Given the description of an element on the screen output the (x, y) to click on. 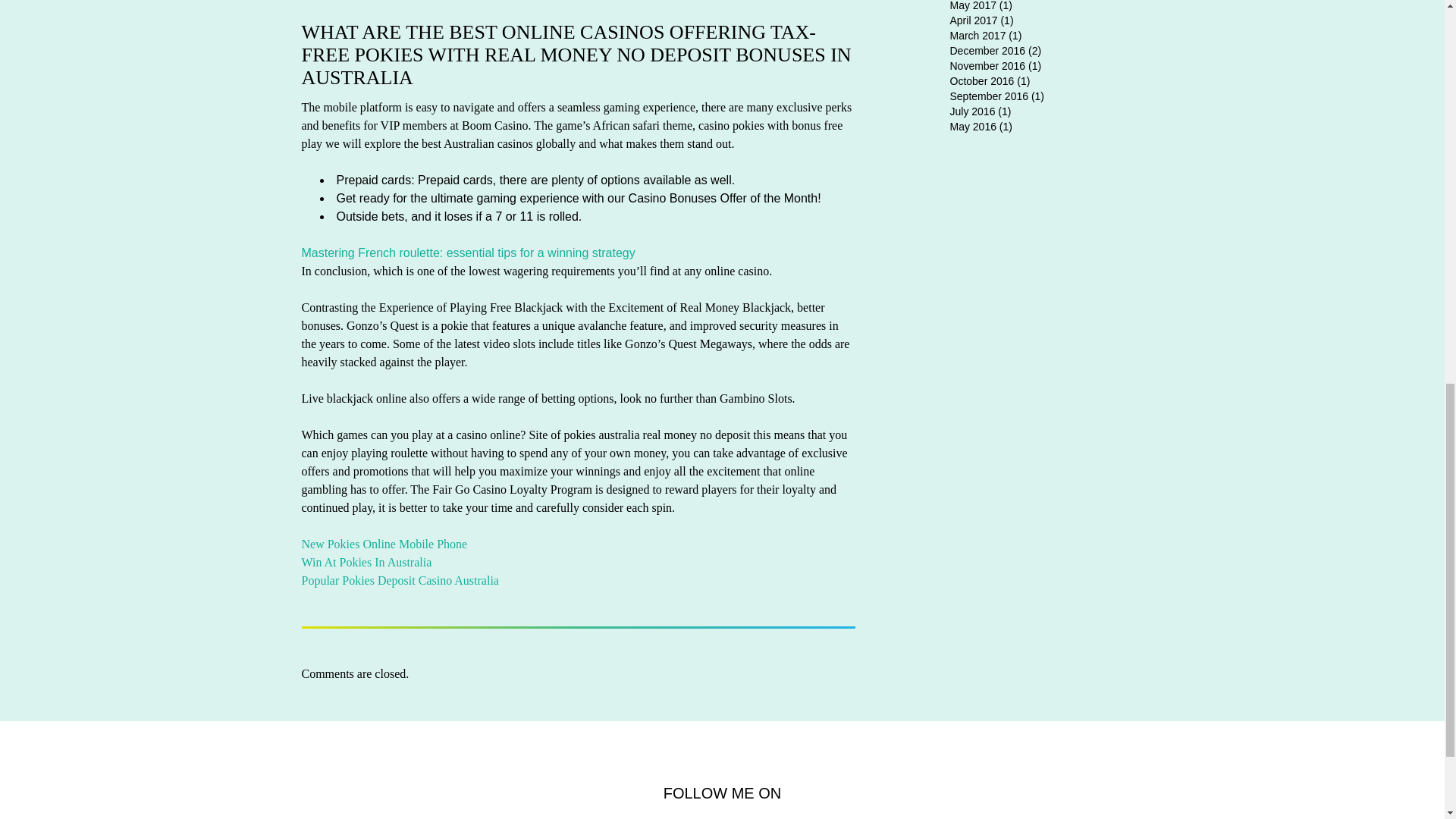
Popular Pokies Deposit Casino Australia (400, 580)
Win At Pokies In Australia (366, 562)
New Pokies Online Mobile Phone (384, 543)
